Given the description of an element on the screen output the (x, y) to click on. 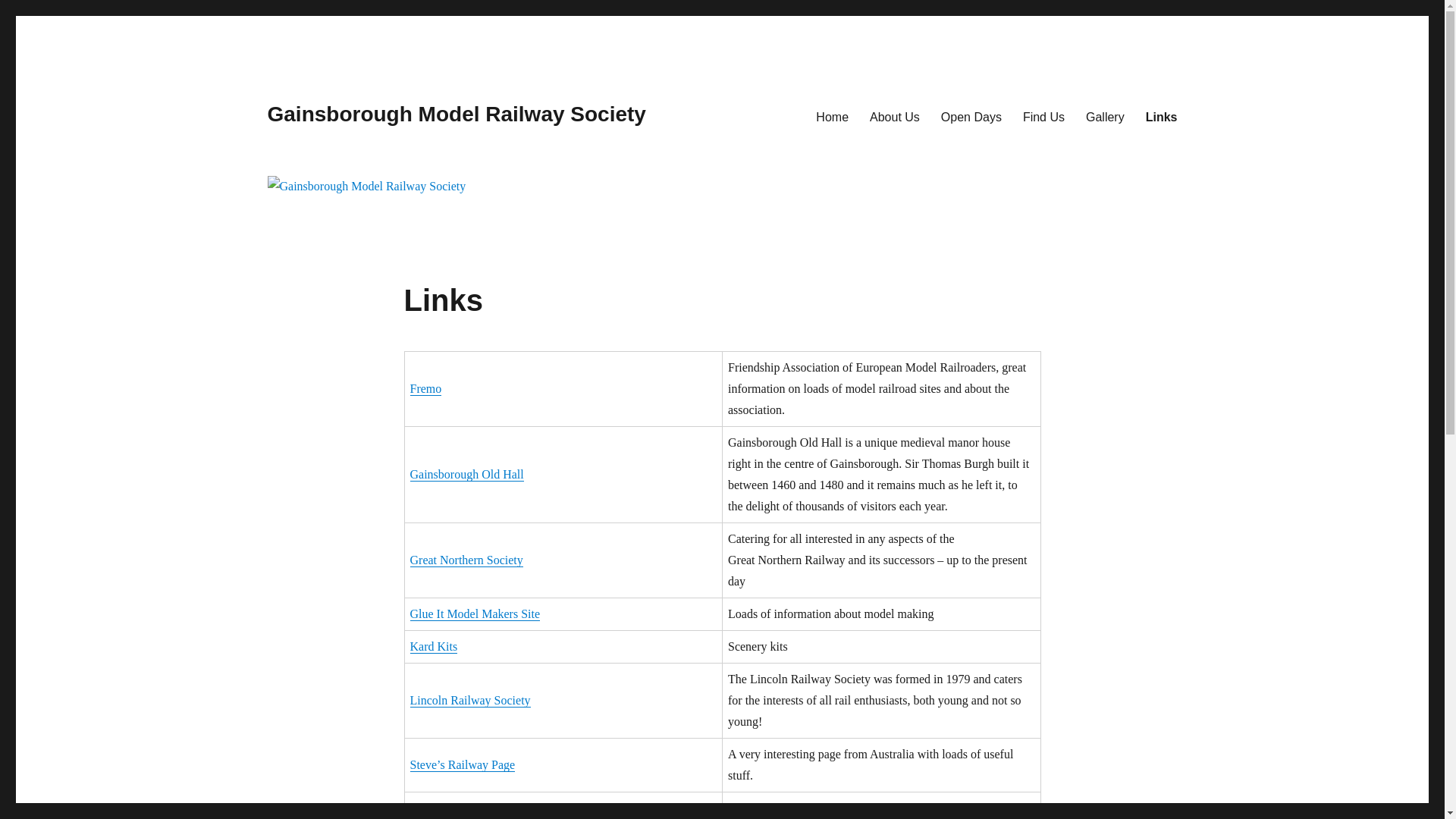
Glue It Model Makers Site (474, 613)
Links (1161, 116)
Home (832, 116)
Fremo (425, 388)
Great Northern Society (465, 559)
Gainsborough Old Hall (465, 473)
Kard Kits (433, 645)
Lincoln Railway Society (469, 699)
Open Days (970, 116)
Find Us (1043, 116)
